Given the description of an element on the screen output the (x, y) to click on. 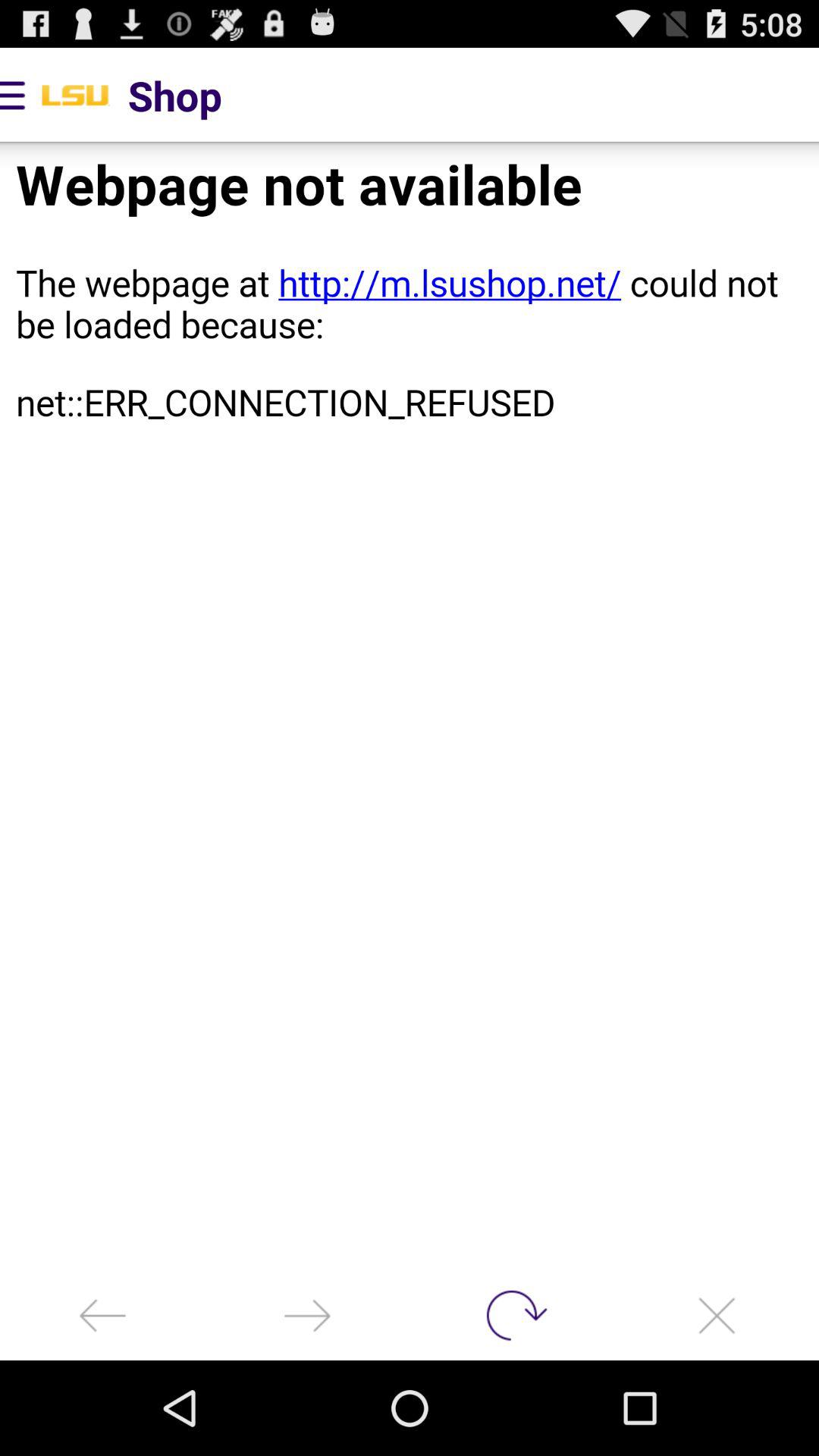
website page (409, 706)
